Given the description of an element on the screen output the (x, y) to click on. 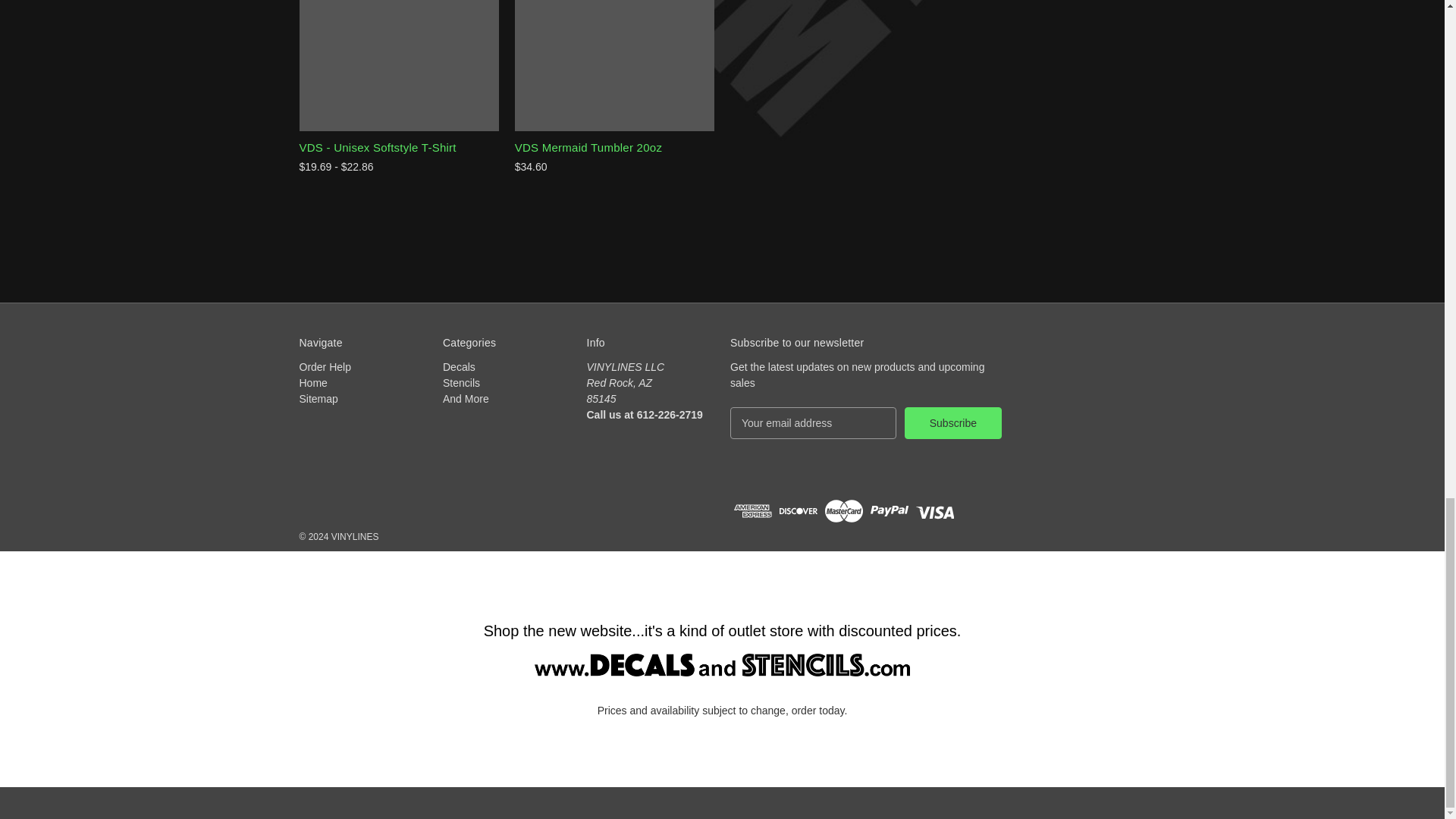
Visa (934, 511)
Mastercard (844, 511)
Discover (797, 511)
American Express (752, 511)
Subscribe (952, 422)
VDS - Unisex Softstyle T-Shirt (398, 63)
PayPal (889, 511)
VDS Mermaid Tumbler 20oz (613, 63)
